Given the description of an element on the screen output the (x, y) to click on. 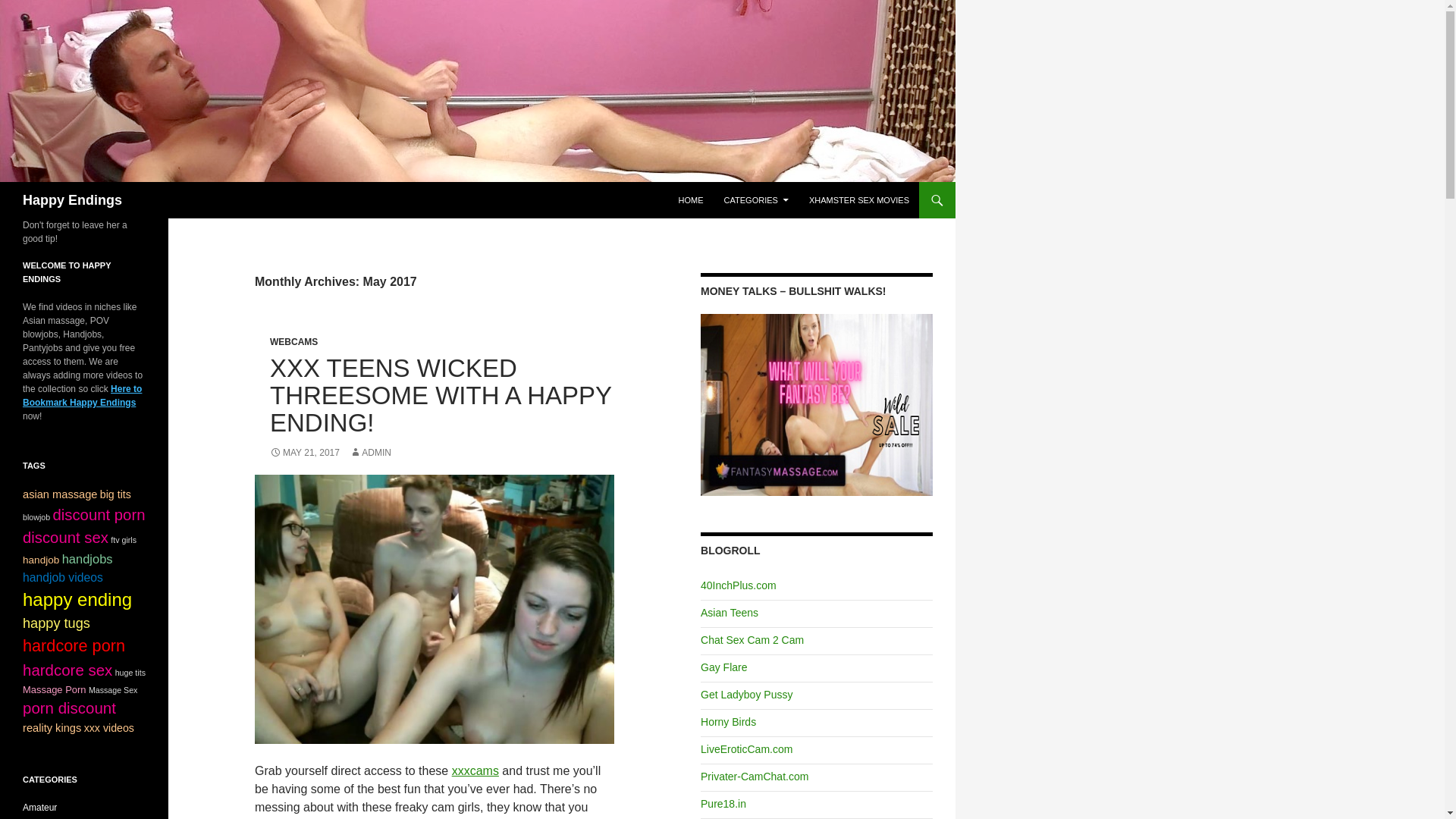
12 (60, 494)
14 (63, 576)
52 (77, 598)
ADMIN (370, 452)
Fantasy Massage (816, 404)
Happy Endings (72, 199)
10 (41, 559)
XHAMSTER SEX MOVIES (858, 199)
Gay Flare (723, 666)
